Given the description of an element on the screen output the (x, y) to click on. 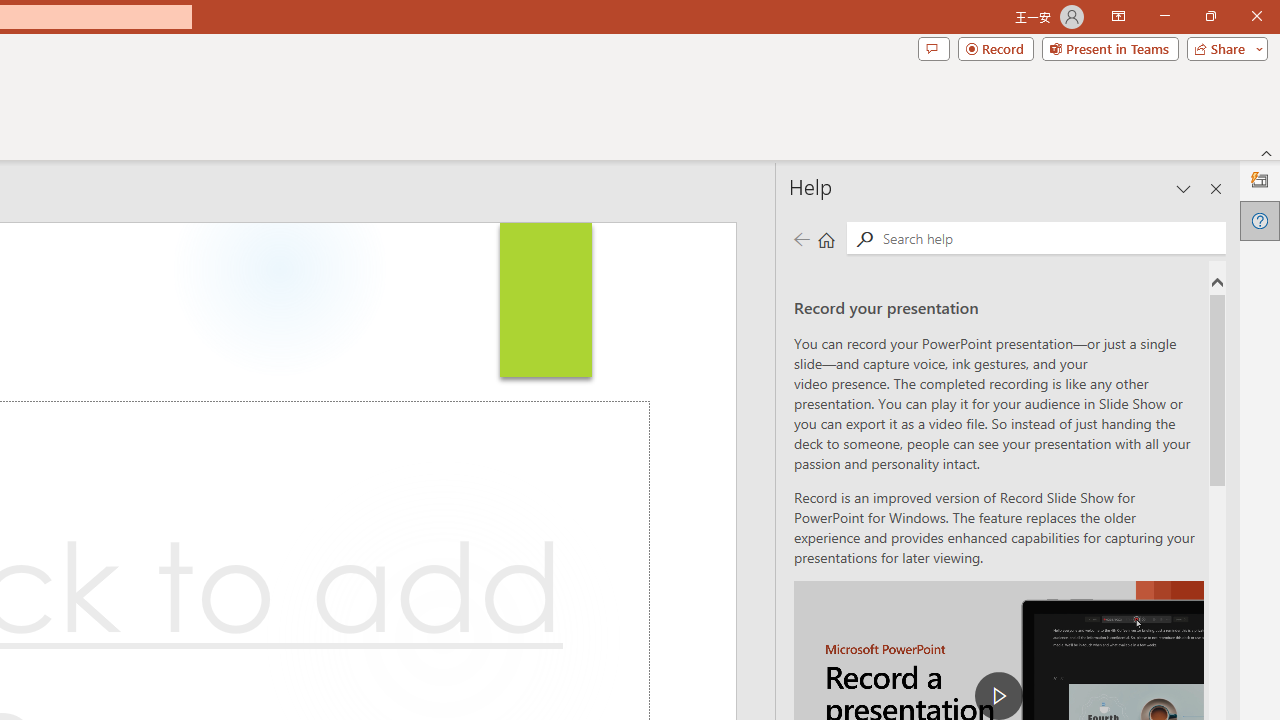
Task Pane Options (1183, 188)
Previous page (801, 238)
Ribbon Display Options (1118, 16)
